Given the description of an element on the screen output the (x, y) to click on. 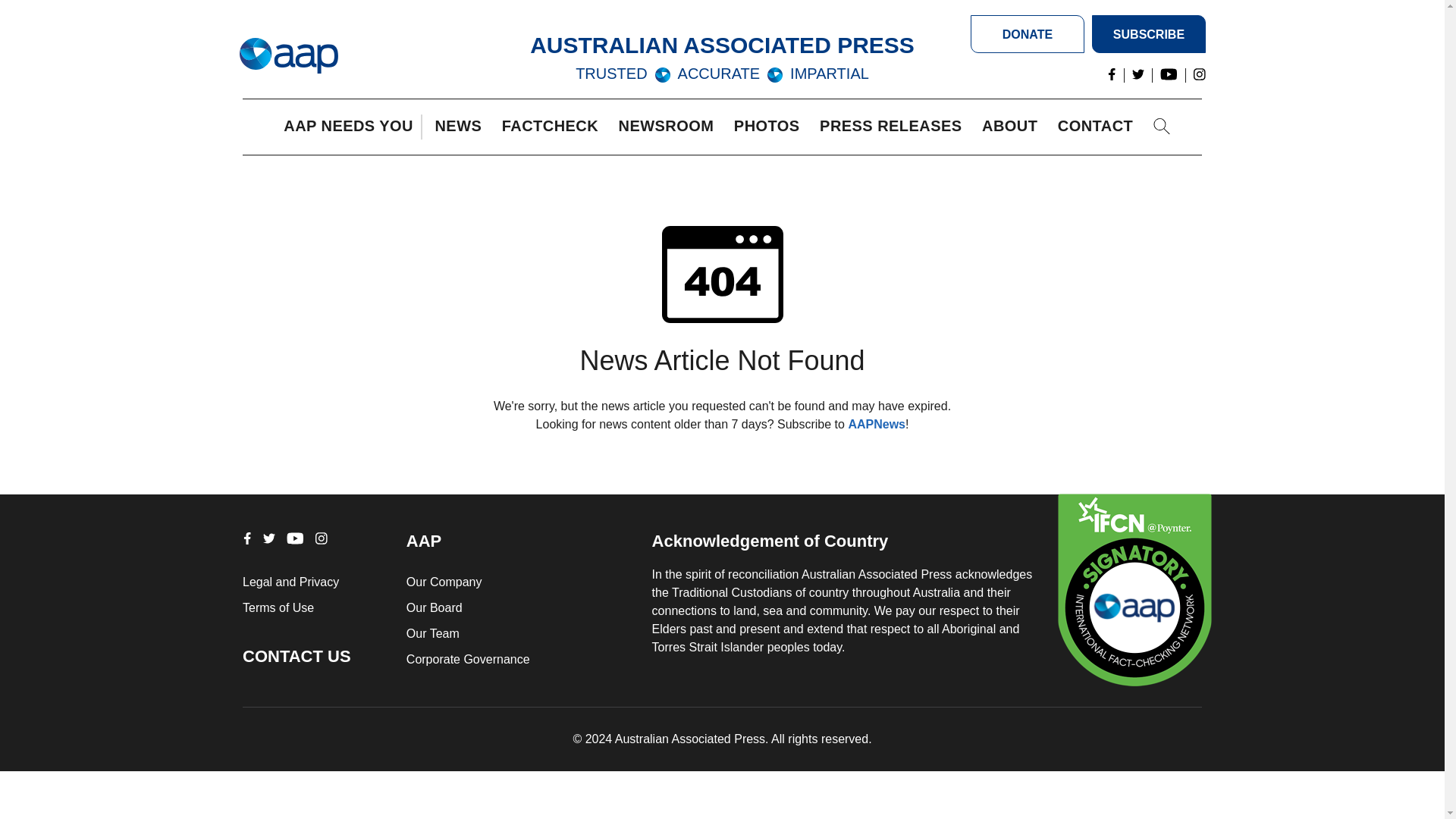
ABOUT (1013, 126)
PRESS RELEASES (894, 126)
AAP NEEDS YOU (351, 126)
AAPNews (876, 423)
NEWSROOM (670, 126)
Home (288, 56)
CONTACT (1099, 126)
AUSTRALIAN ASSOCIATED PRESS (721, 44)
PHOTOS (770, 126)
FACTCHECK (553, 126)
